Given the description of an element on the screen output the (x, y) to click on. 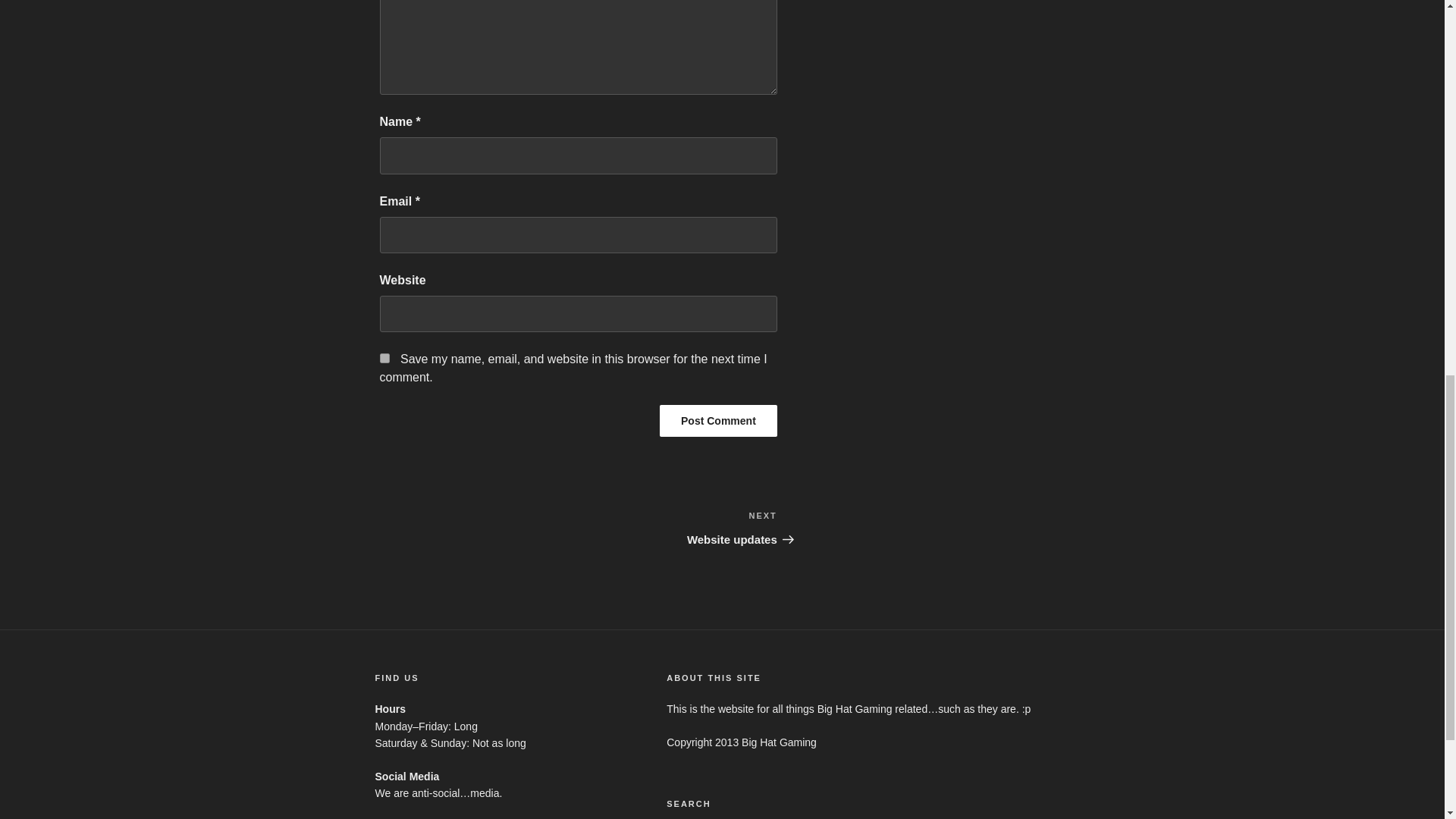
Post Comment (718, 420)
Post Comment (677, 527)
yes (718, 420)
